Given the description of an element on the screen output the (x, y) to click on. 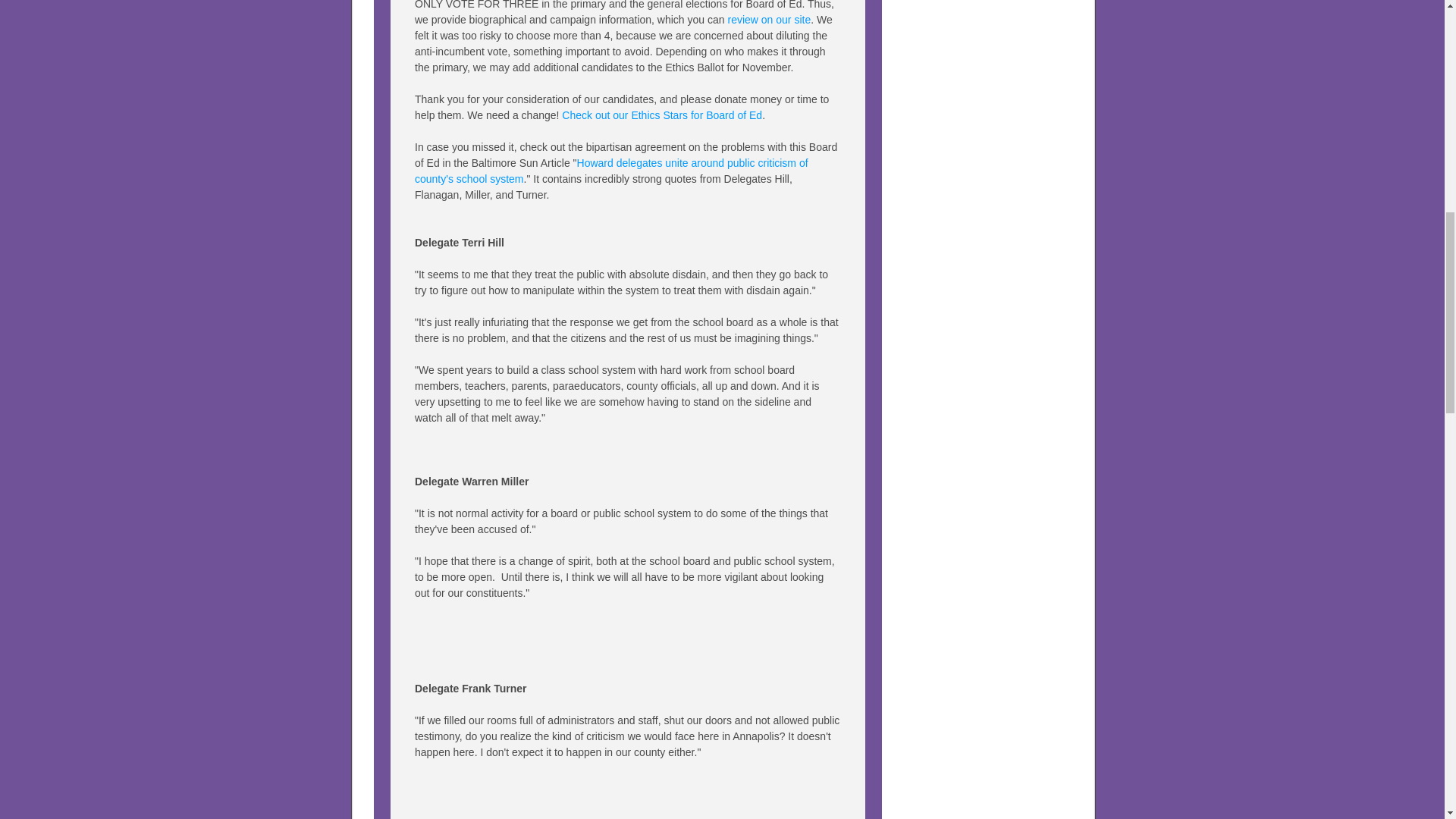
review on our site (768, 19)
Check out our Ethics Stars for Board of Ed (661, 114)
